Given the description of an element on the screen output the (x, y) to click on. 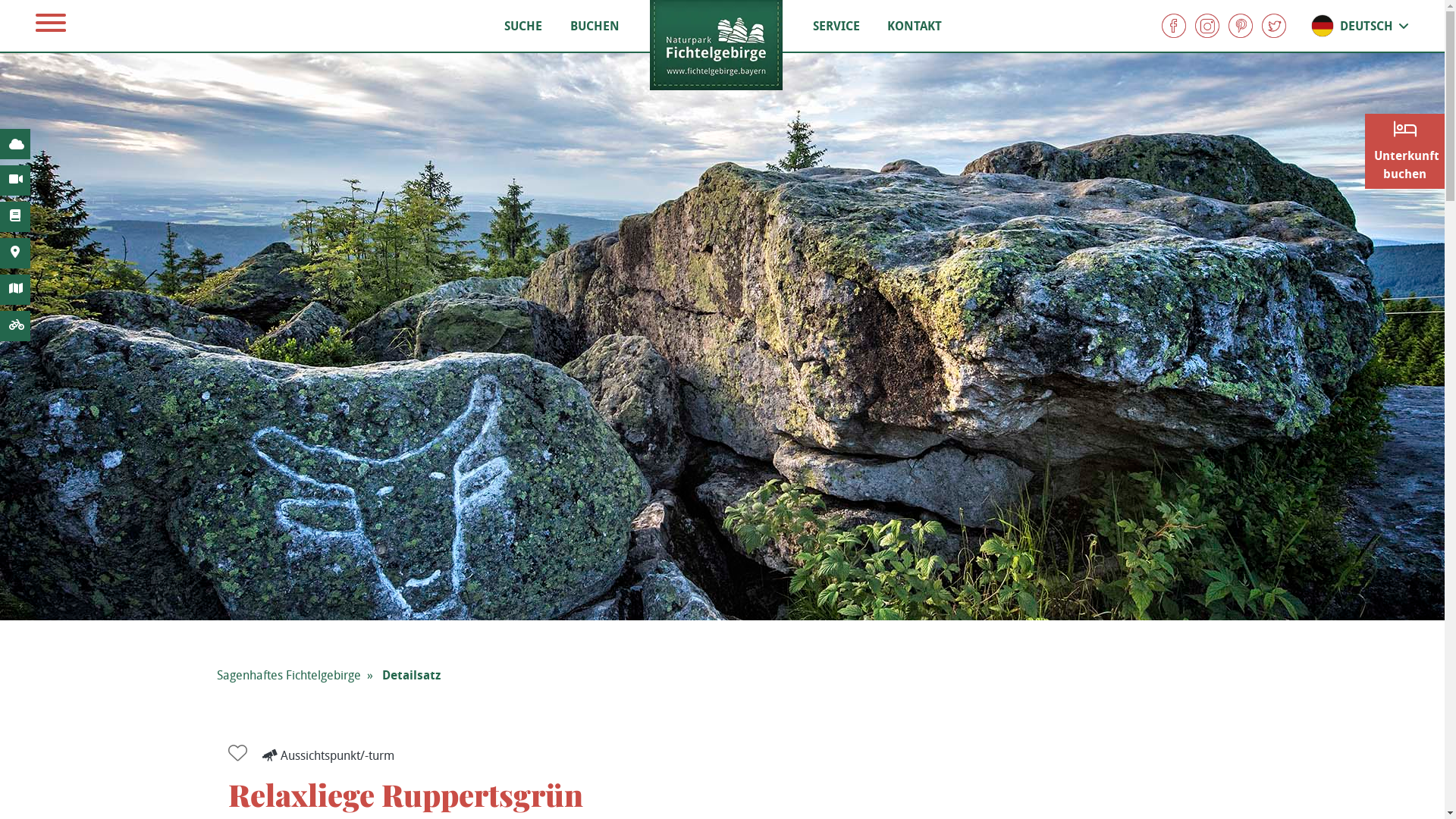
BUCHEN Element type: text (594, 25)
Aussichtspunkt/-turm Element type: text (328, 754)
Merken Element type: hover (243, 753)
SUCHE Element type: text (523, 25)
DEUTSCH Element type: text (1359, 25)
Fichtelgebirge Bayern auf Instagram Element type: hover (1207, 25)
KONTAKT Element type: text (914, 25)
SERVICE Element type: text (836, 25)
Fichtelgebirge Bayern auf Pinterest Element type: hover (1240, 25)
Fichtelgebirge Bayern auf Facebook Element type: hover (1173, 25)
Fichtelgebirge Bayern auf Twitter Element type: hover (1273, 25)
Unterkunft buchen Element type: text (1404, 150)
Sagenhaftes Fichtelgebirge Element type: text (288, 674)
